Given the description of an element on the screen output the (x, y) to click on. 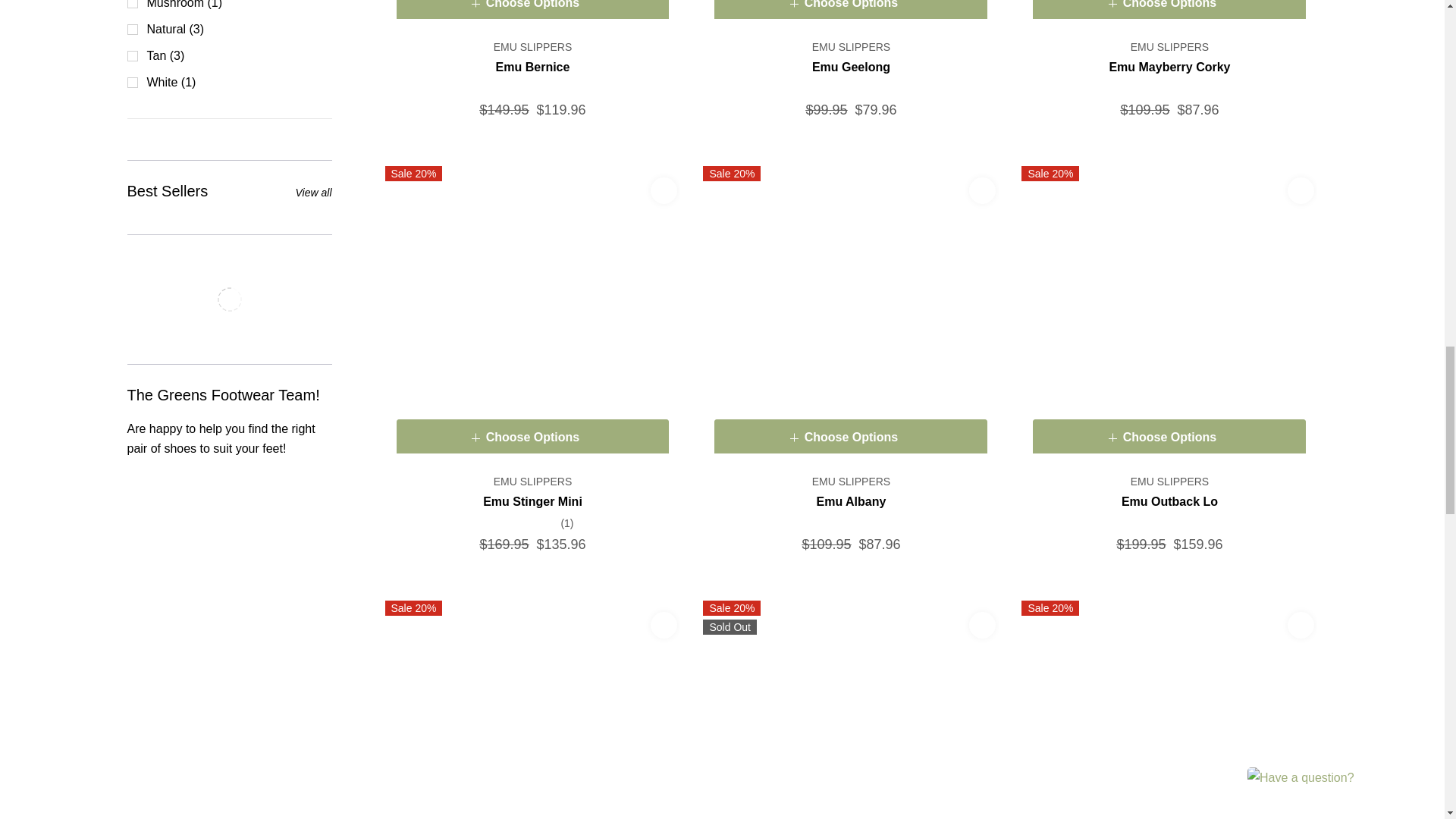
Tawny (1169, 13)
sidecut2.png (228, 299)
Charcoal (533, 313)
Chestnut (533, 13)
Black (1169, 313)
Natural (850, 13)
Chestnut (850, 313)
